Given the description of an element on the screen output the (x, y) to click on. 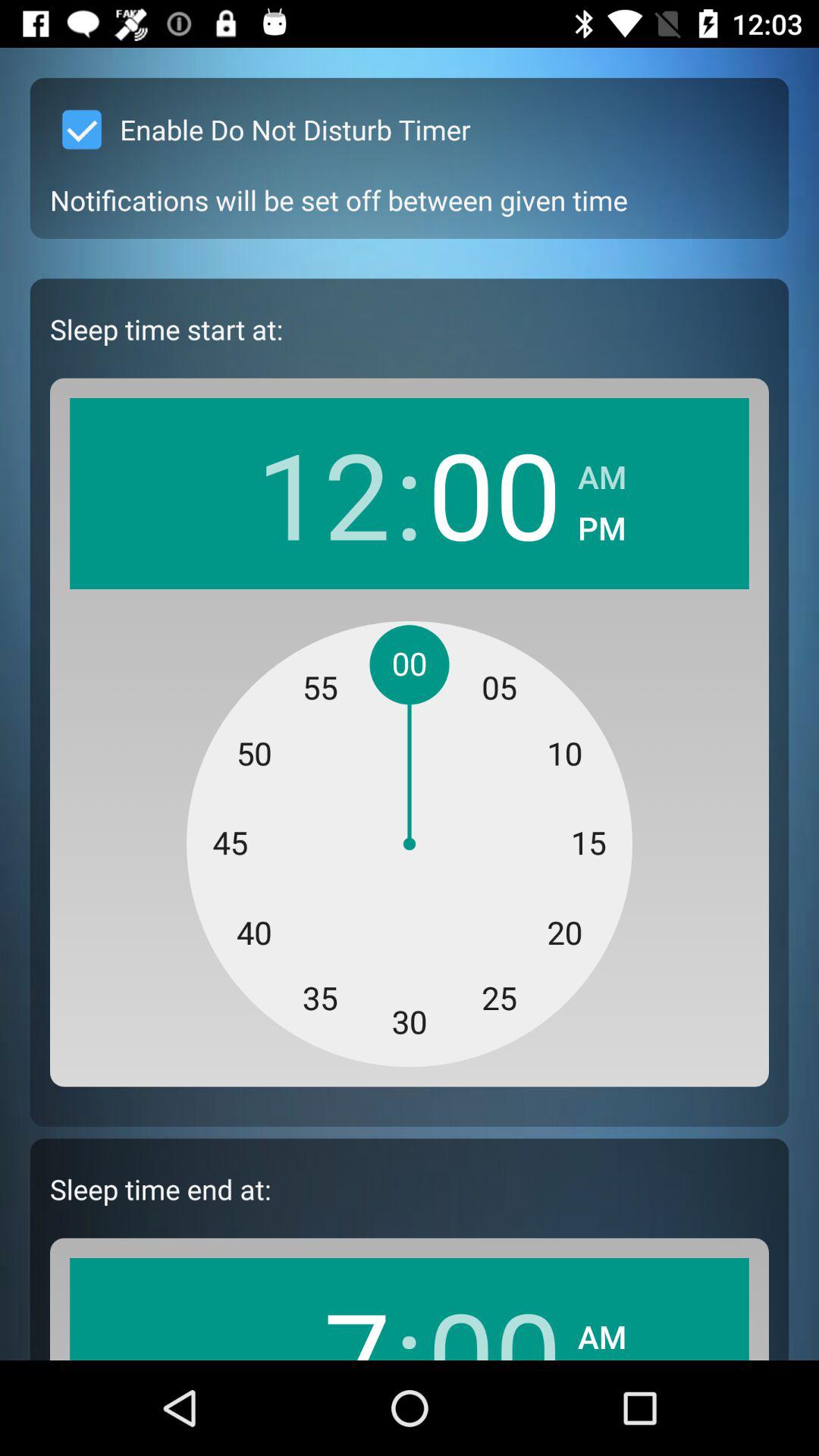
turn off icon next to the : icon (323, 1317)
